Given the description of an element on the screen output the (x, y) to click on. 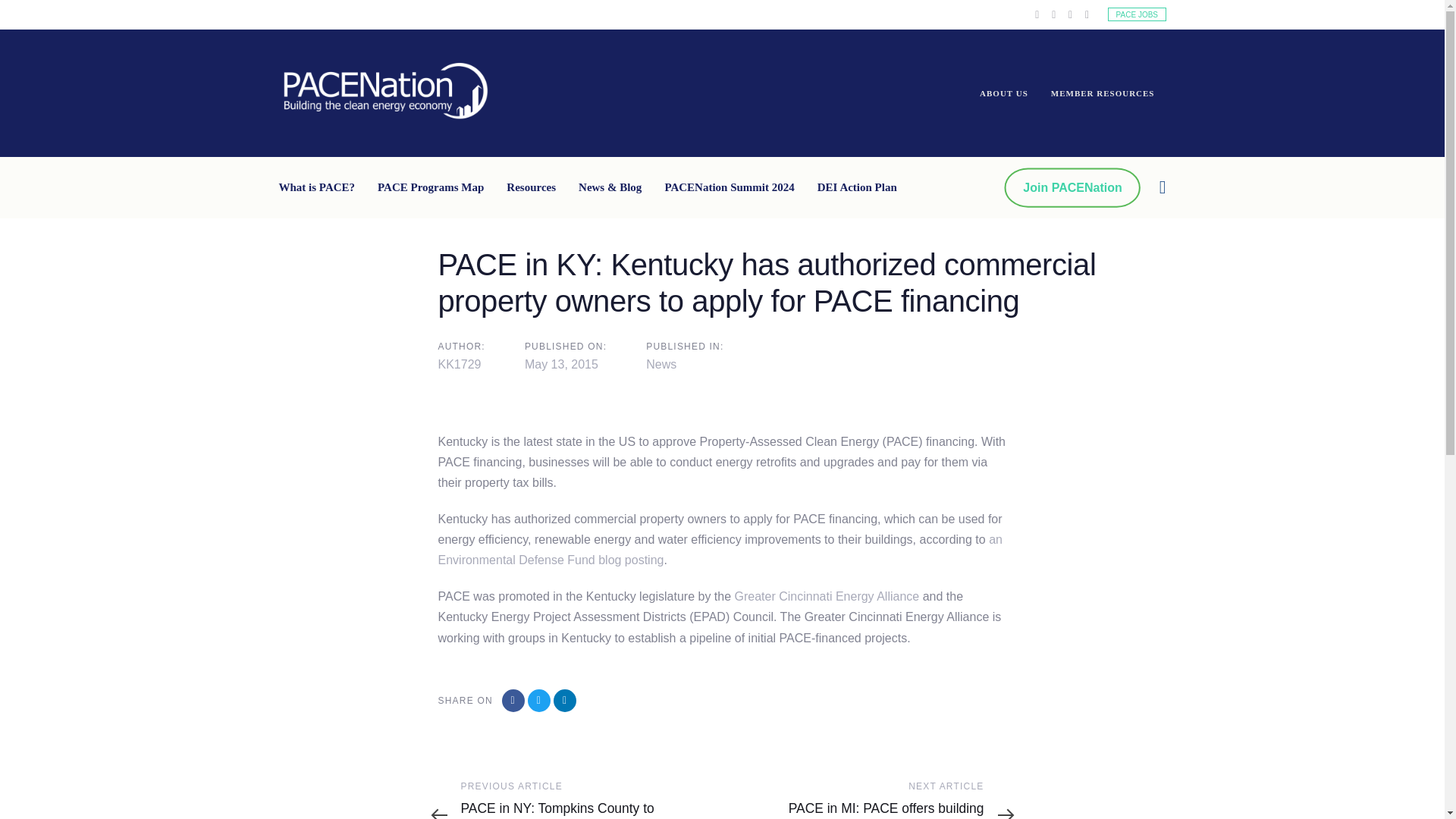
Posts by KK1729 (459, 364)
PACE Programs Map (430, 187)
News (661, 364)
MEMBER RESOURCES (1102, 93)
DEI Action Plan (857, 187)
KK1729 (459, 364)
What is PACE? (322, 187)
PACE JOBS (1137, 14)
Join PACENation (1072, 187)
